Given the description of an element on the screen output the (x, y) to click on. 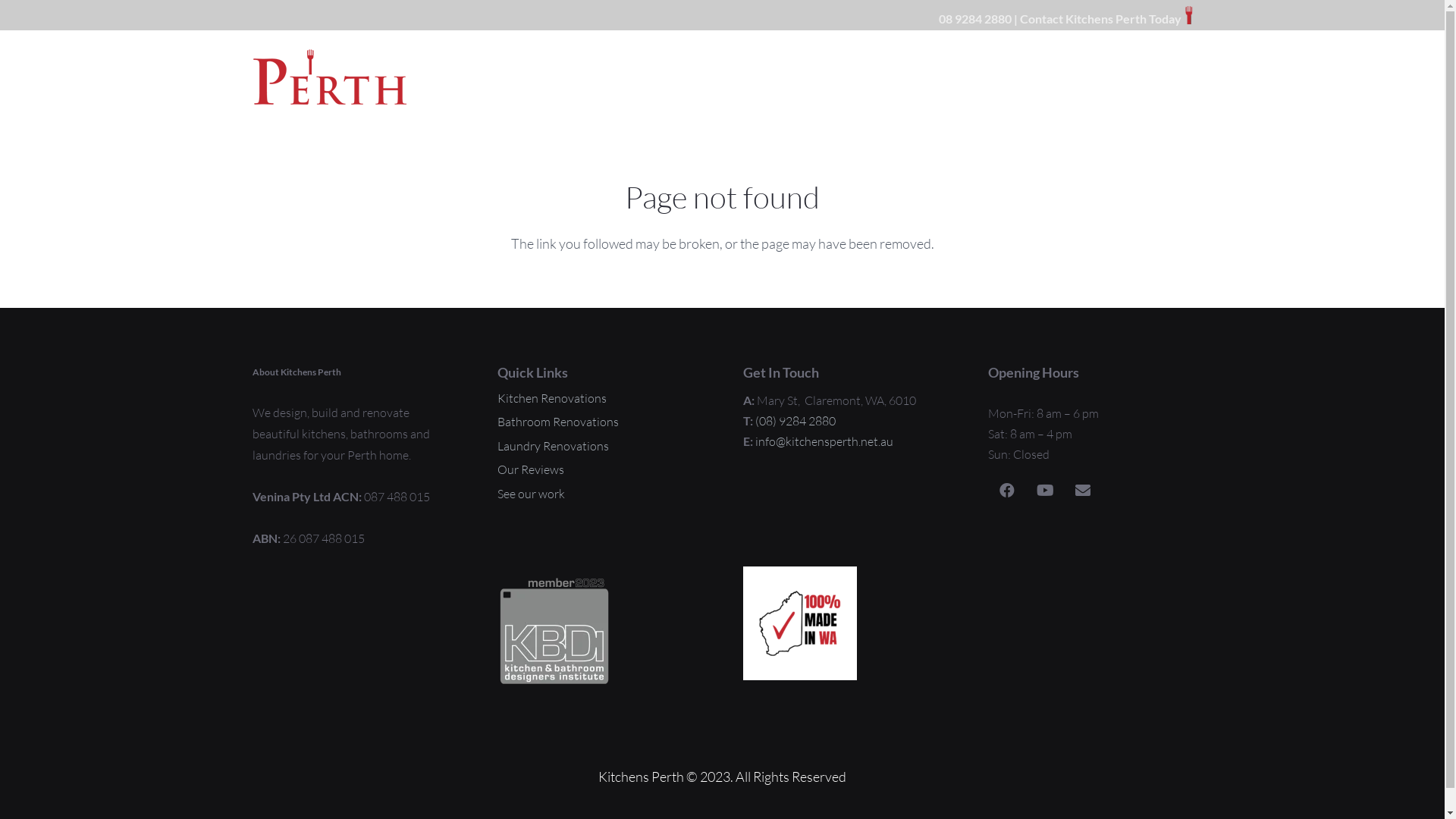
CONTACT Element type: text (1148, 77)
YouTube Element type: hover (1044, 490)
Bathroom Renovations Element type: text (557, 421)
EXTRAS Element type: text (703, 77)
08 9284 2880 | Contact Kitchens Perth Today Element type: text (1057, 18)
TESTIMONIALS Element type: text (990, 77)
RENOVATIONS Element type: text (526, 77)
Our Reviews Element type: text (530, 468)
GALLERY Element type: text (624, 77)
Facebook Element type: hover (1007, 490)
(08) 9284 2880 Element type: text (795, 420)
TIPS & TRENDS Element type: text (799, 77)
See our work Element type: text (530, 493)
Laundry Renovations Element type: text (552, 445)
info@kitchensperth.net.au Element type: text (824, 440)
ABOUT Element type: text (894, 77)
Kitchen Renovations Element type: text (551, 397)
FAQ Element type: text (1076, 77)
Email Element type: hover (1082, 490)
